Given the description of an element on the screen output the (x, y) to click on. 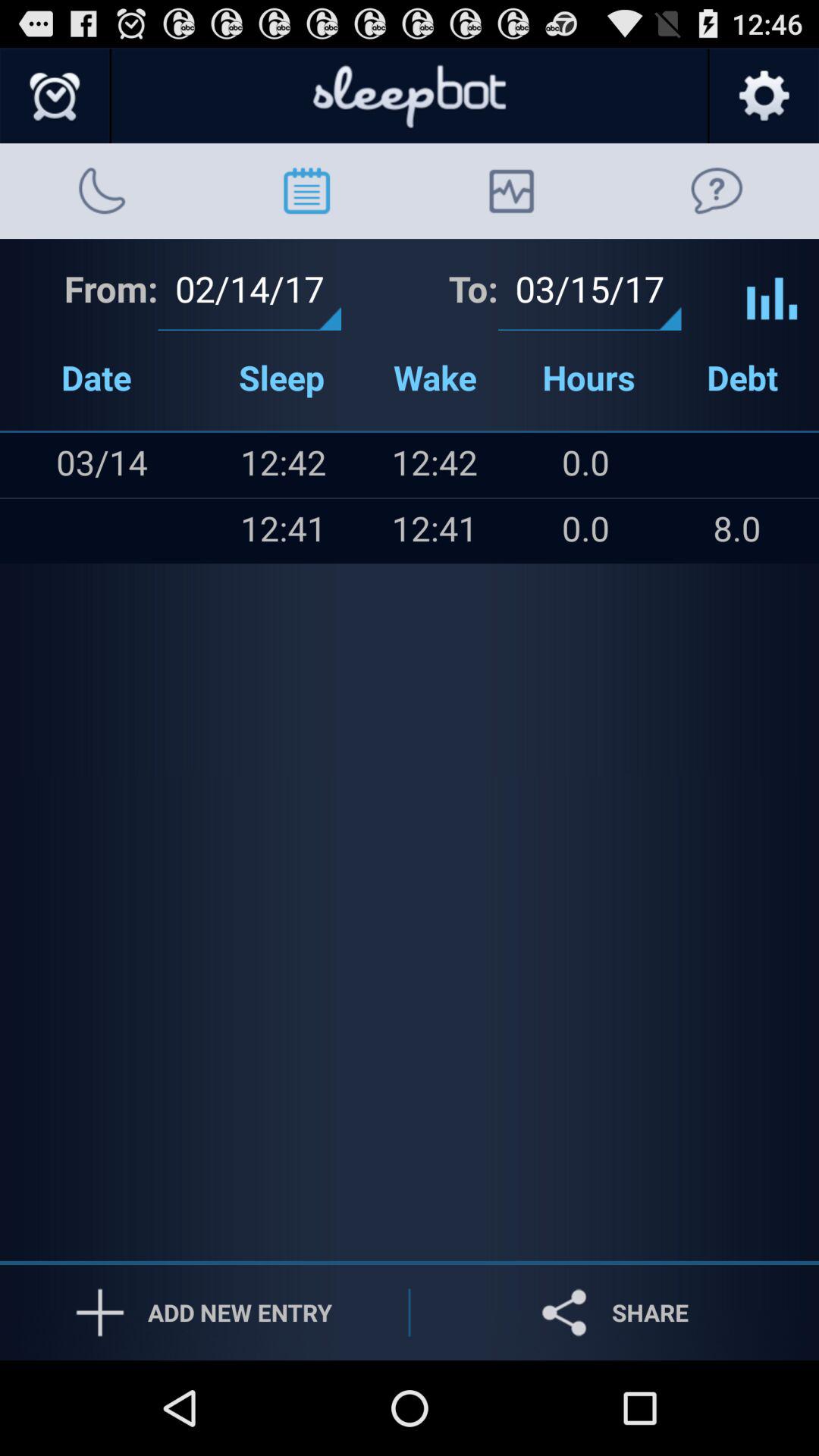
usage (772, 286)
